Given the description of an element on the screen output the (x, y) to click on. 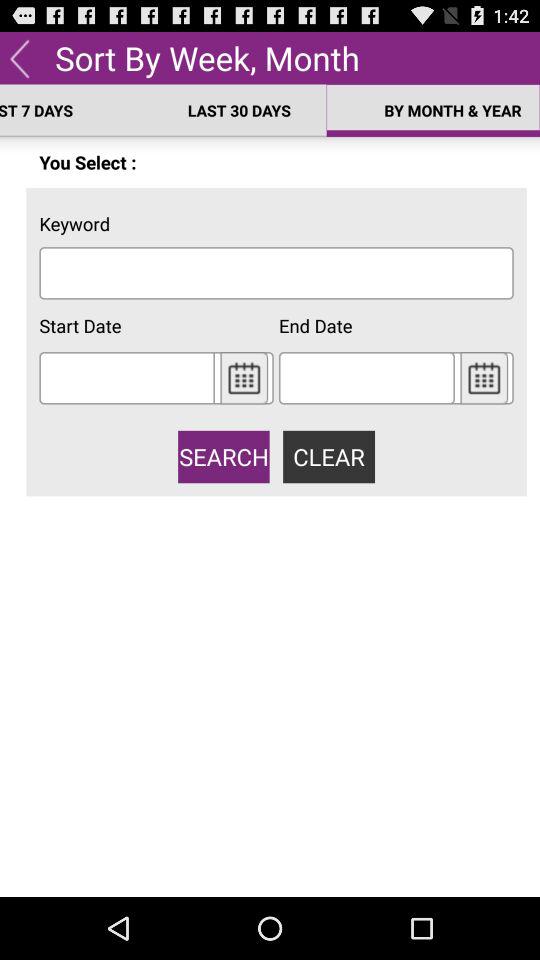
go to previous (19, 57)
